Given the description of an element on the screen output the (x, y) to click on. 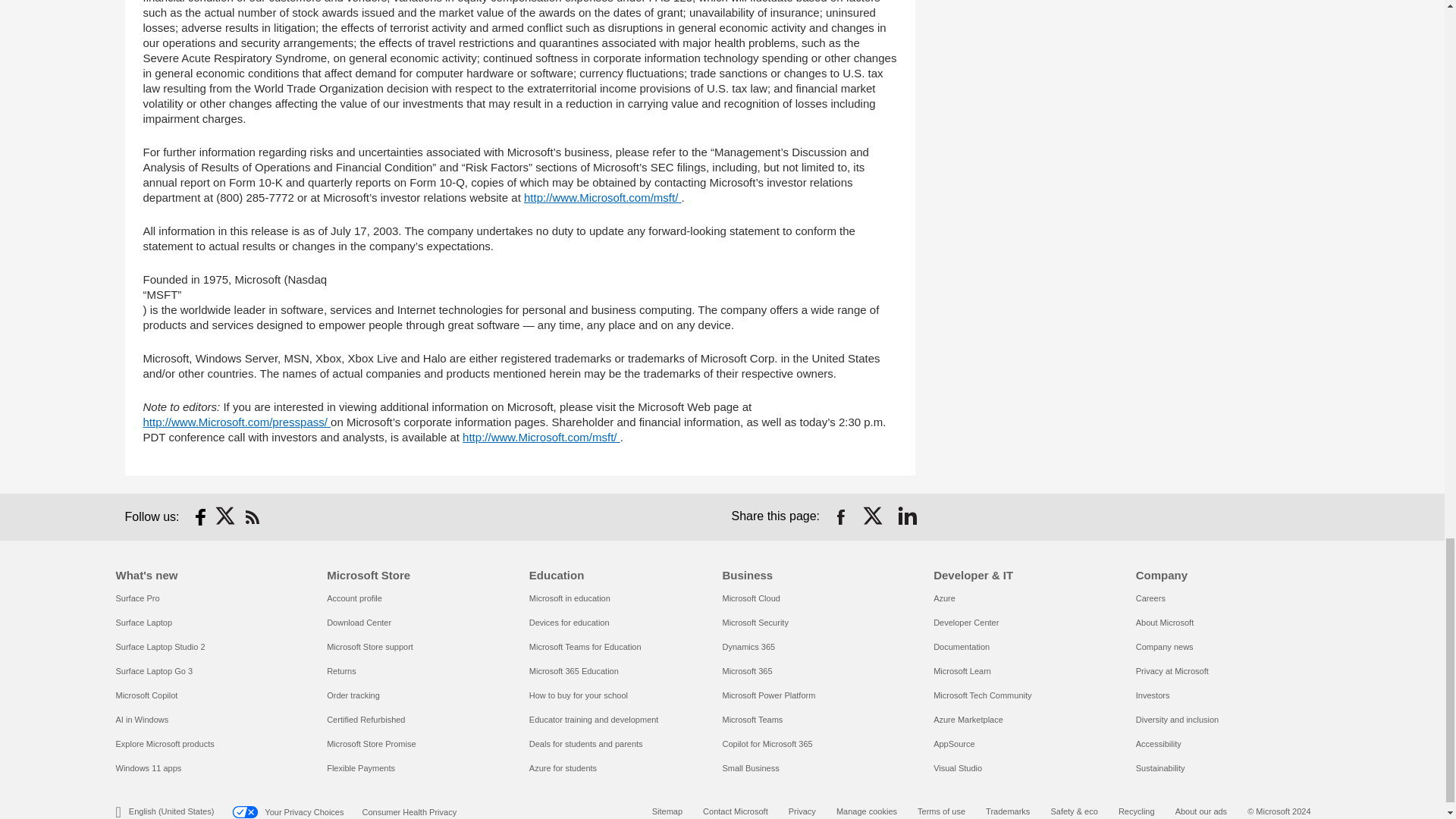
Share on Facebook (840, 517)
Follow on Twitter (226, 517)
Follow on Facebook (200, 517)
Share on LinkedIn (907, 517)
RSS Subscription (252, 517)
Share on Twitter (873, 517)
